Given the description of an element on the screen output the (x, y) to click on. 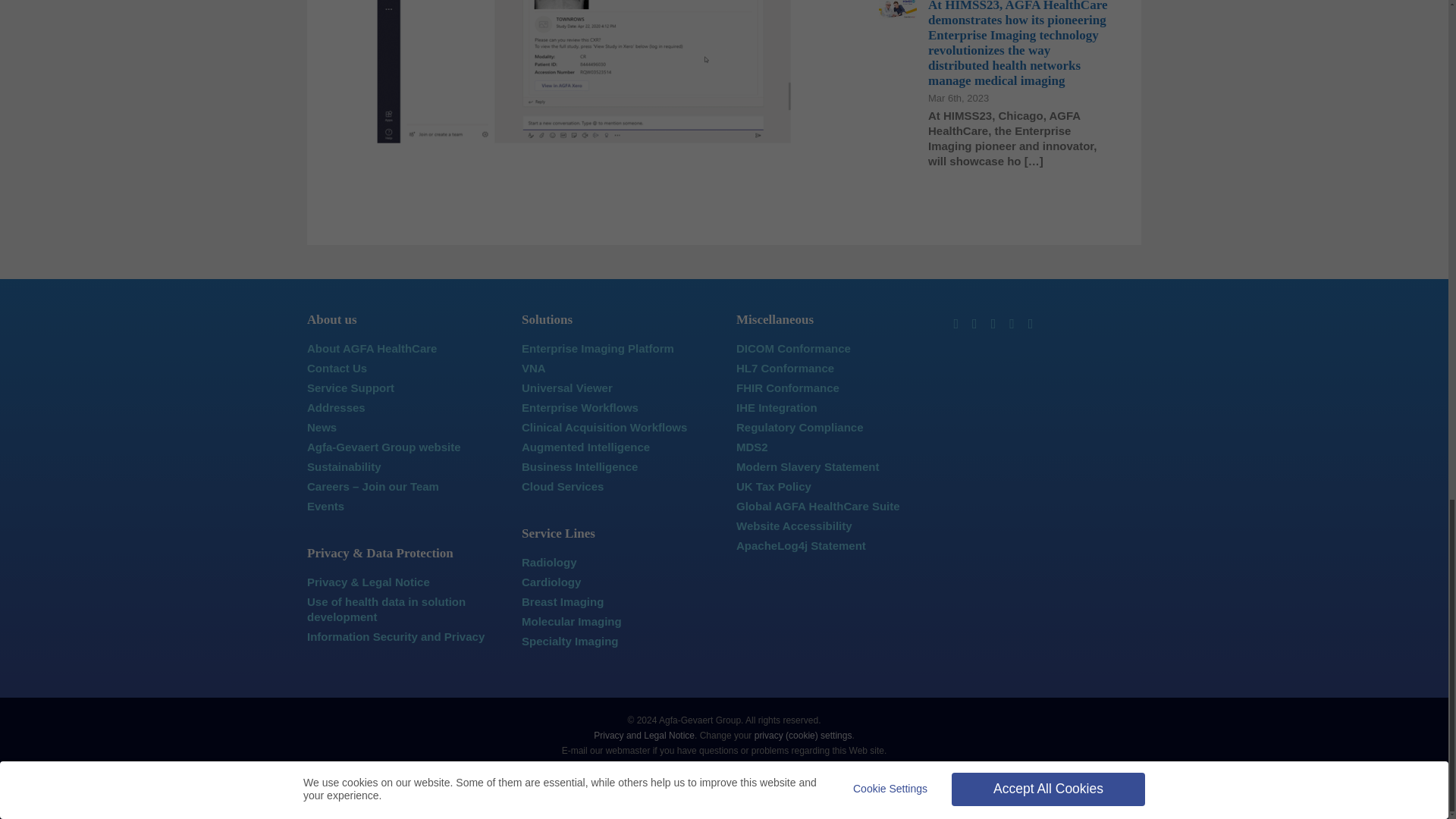
Blog (1031, 323)
LinkedIn (955, 323)
Twitter (974, 323)
Instagram (993, 323)
YouTube (1012, 323)
